Given the description of an element on the screen output the (x, y) to click on. 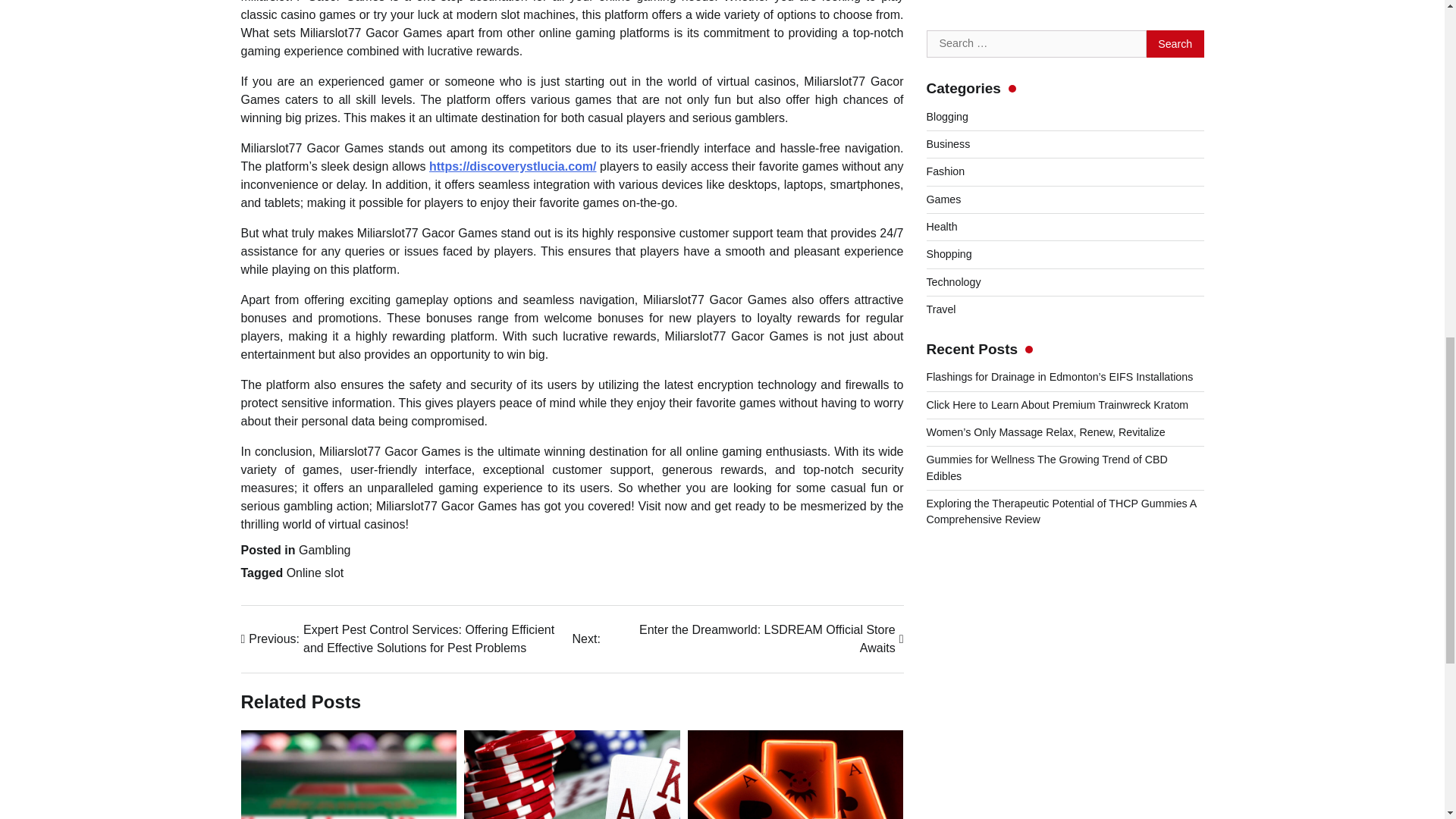
Gambling (324, 549)
Online slot (314, 572)
